Given the description of an element on the screen output the (x, y) to click on. 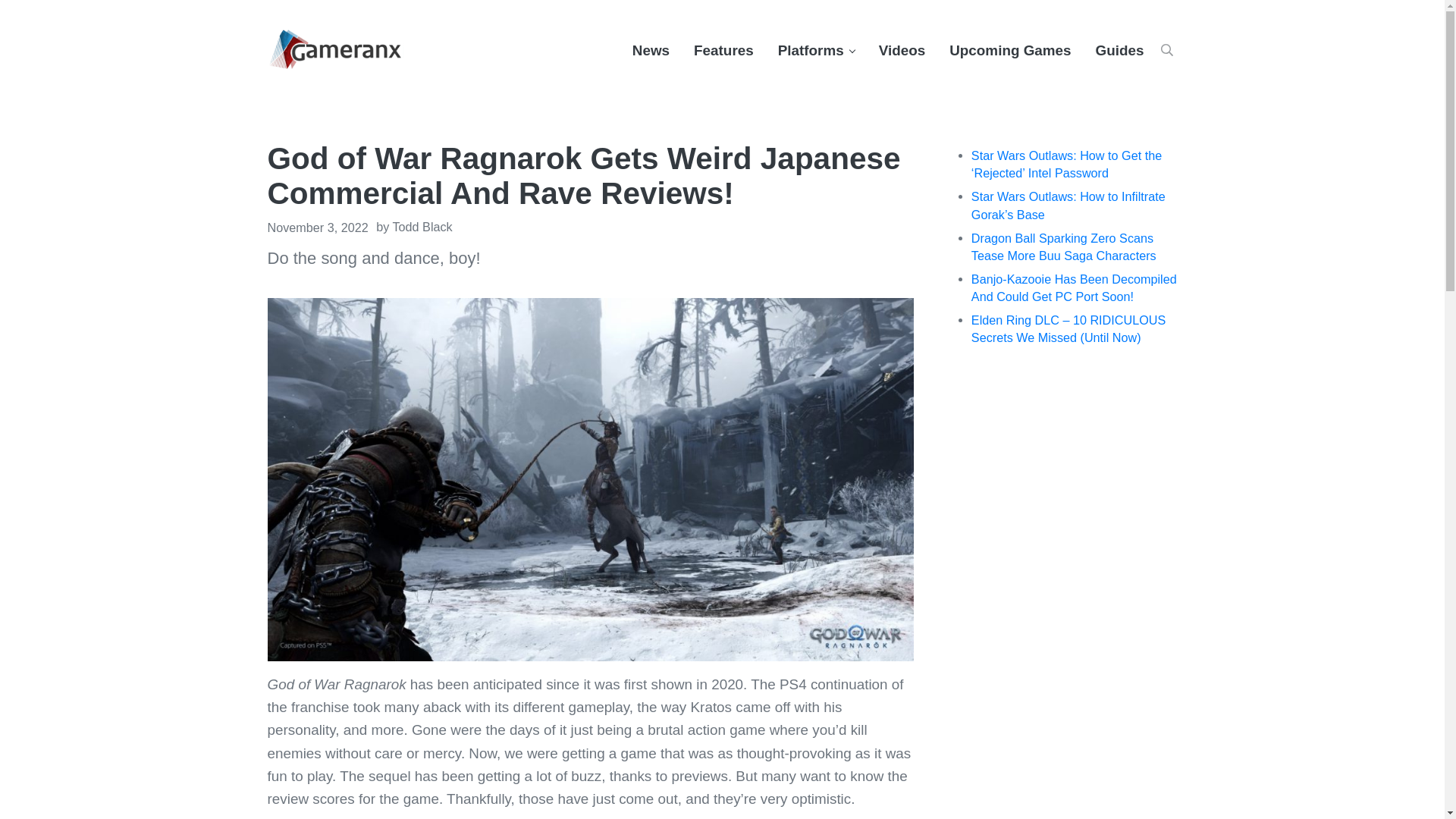
Platforms (815, 50)
Features (723, 50)
News (650, 50)
Guides (1119, 50)
Todd Black (422, 226)
Upcoming Games (1010, 50)
Videos (901, 50)
